Given the description of an element on the screen output the (x, y) to click on. 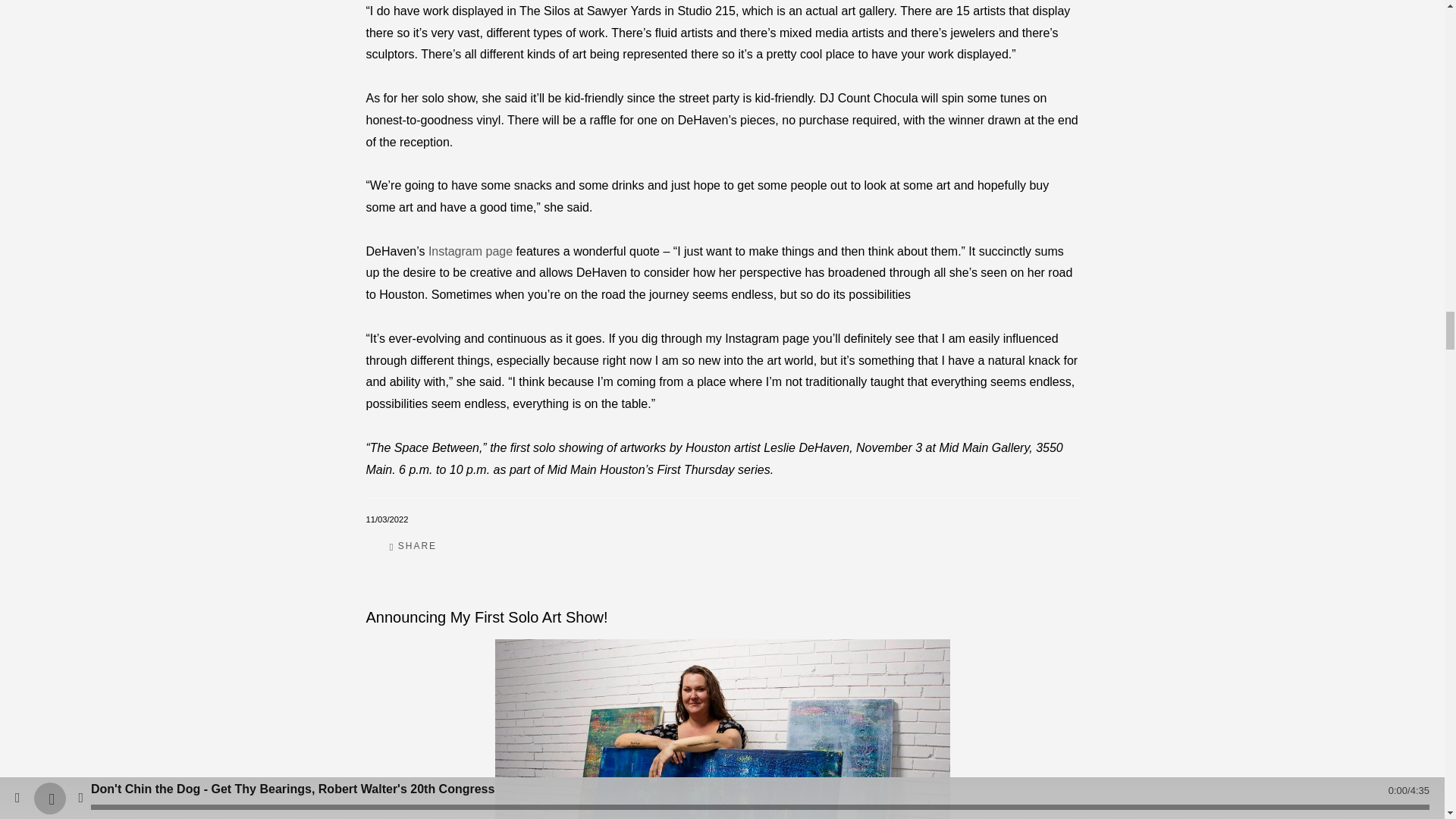
November 03, 2022 08:47 (386, 519)
SHARE (413, 546)
Announcing My First Solo Art Show! (488, 617)
Share Houston Press Article (413, 546)
Instagram page (470, 250)
